Given the description of an element on the screen output the (x, y) to click on. 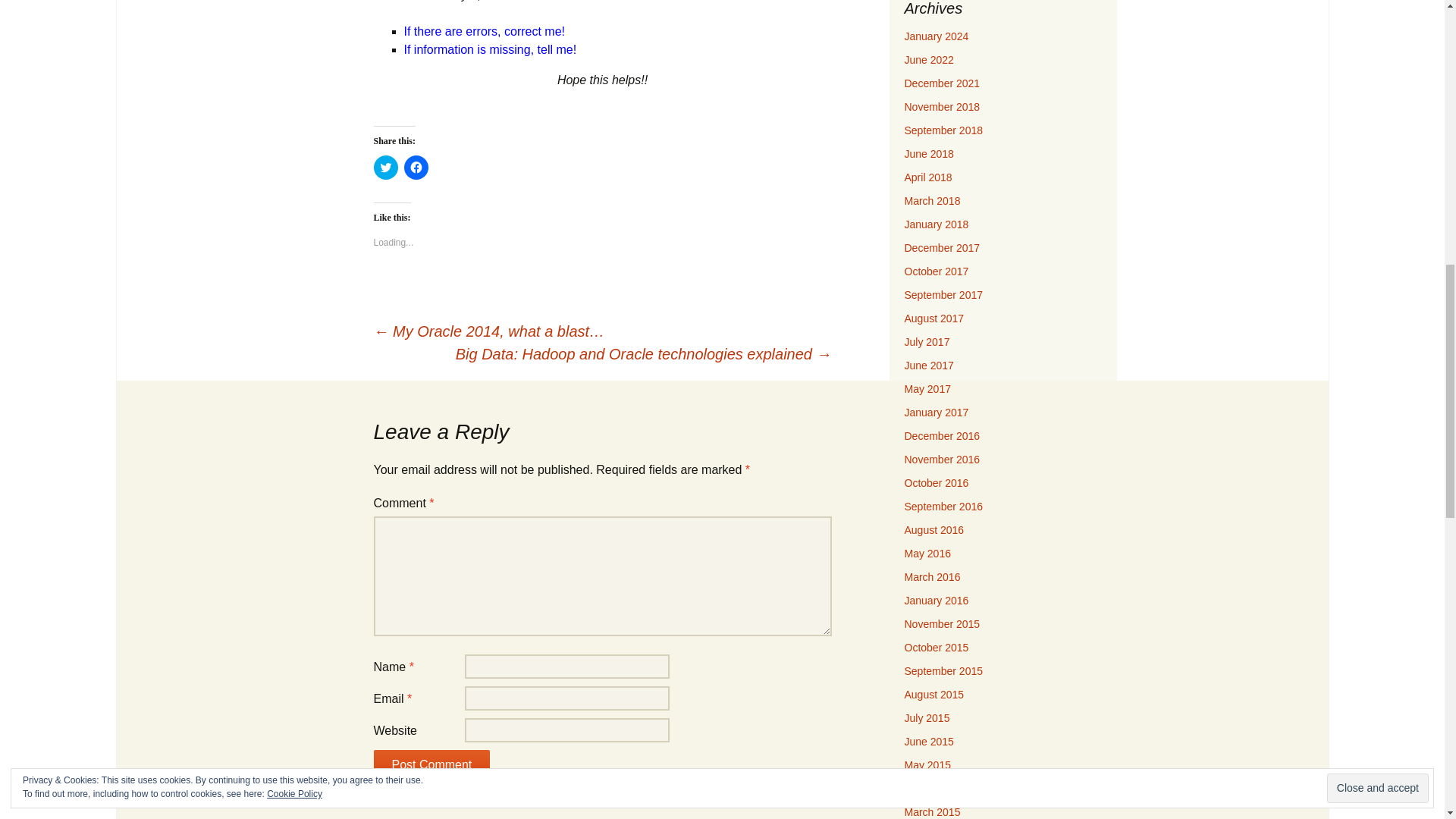
Enter email address (1360, 174)
Post Comment (430, 766)
Click to share on Facebook (415, 167)
Click to share on Twitter (384, 167)
Post Comment (430, 766)
Subscribe (1361, 205)
